Given the description of an element on the screen output the (x, y) to click on. 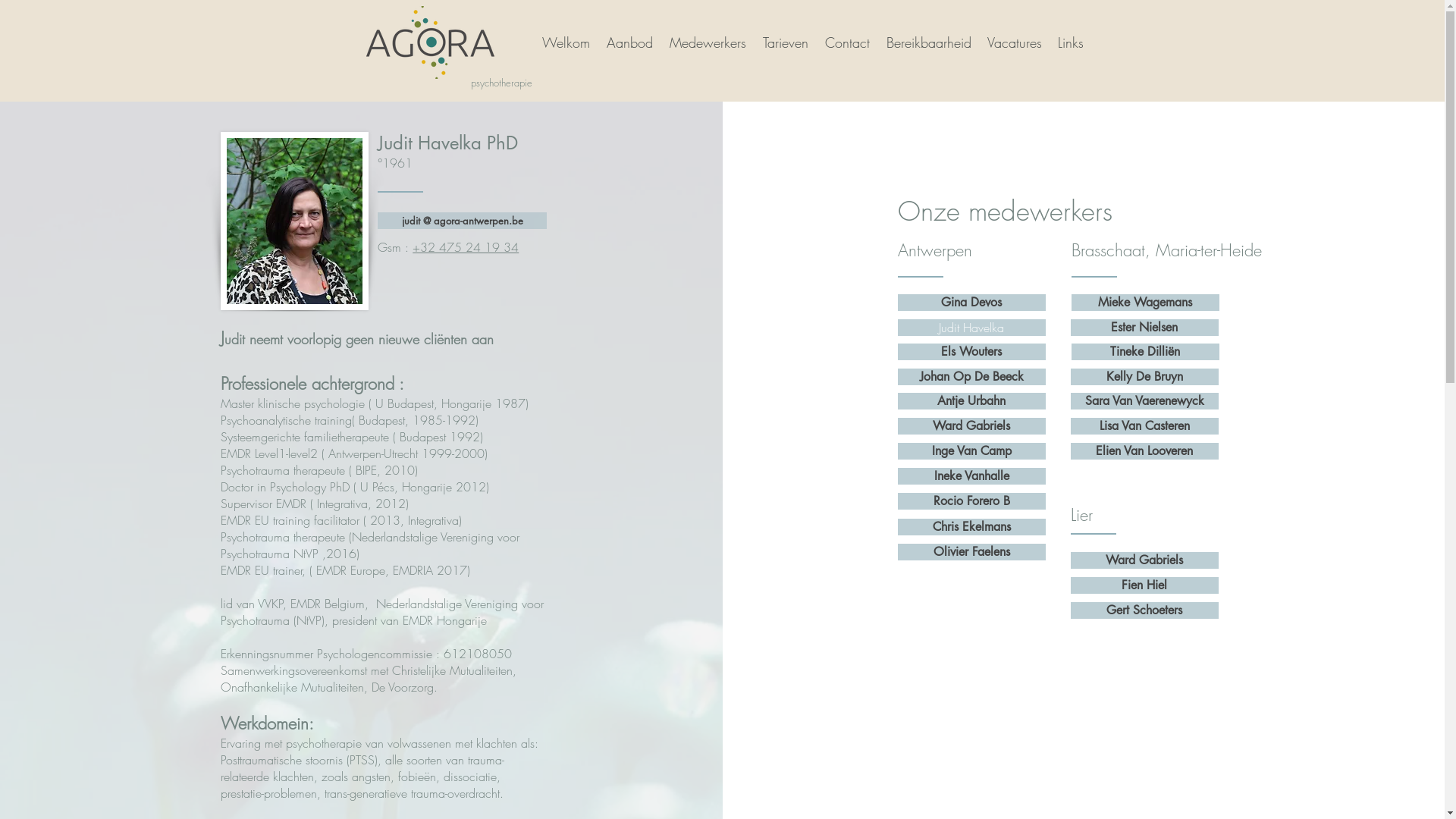
Ward Gabriels Element type: text (971, 425)
Tarieven Element type: text (784, 42)
+32 475 24 19 34 Element type: text (465, 246)
Aanbod Element type: text (628, 42)
Ineke Vanhalle Element type: text (971, 475)
Rocio Forero B Element type: text (971, 500)
Fien Hiel Element type: text (1144, 585)
Chris Ekelmans Element type: text (971, 526)
Welkom Element type: text (564, 42)
Kelly De Bruyn Element type: text (1144, 376)
Sara Van Vaerenewyck Element type: text (1144, 400)
Inge Van Camp Element type: text (971, 450)
Links Element type: text (1070, 42)
Elien Van Looveren Element type: text (1144, 450)
Ward Gabriels Element type: text (1144, 560)
Vacatures Element type: text (1013, 42)
Els Wouters Element type: text (971, 351)
Bereikbaarheid Element type: text (927, 42)
Gert Schoeters Element type: text (1144, 610)
Medewerkers Element type: text (706, 42)
Johan Op De Beeck Element type: text (971, 376)
Gina Devos Element type: text (971, 302)
judit @ agora-antwerpen.be Element type: text (461, 220)
Lisa Van Casteren Element type: text (1144, 425)
Ester Nielsen Element type: text (1144, 327)
Judit Havelka Element type: text (971, 327)
Contact Element type: text (846, 42)
Mieke Wagemans Element type: text (1145, 302)
Olivier Faelens Element type: text (971, 551)
Antje Urbahn Element type: text (971, 400)
